Given the description of an element on the screen output the (x, y) to click on. 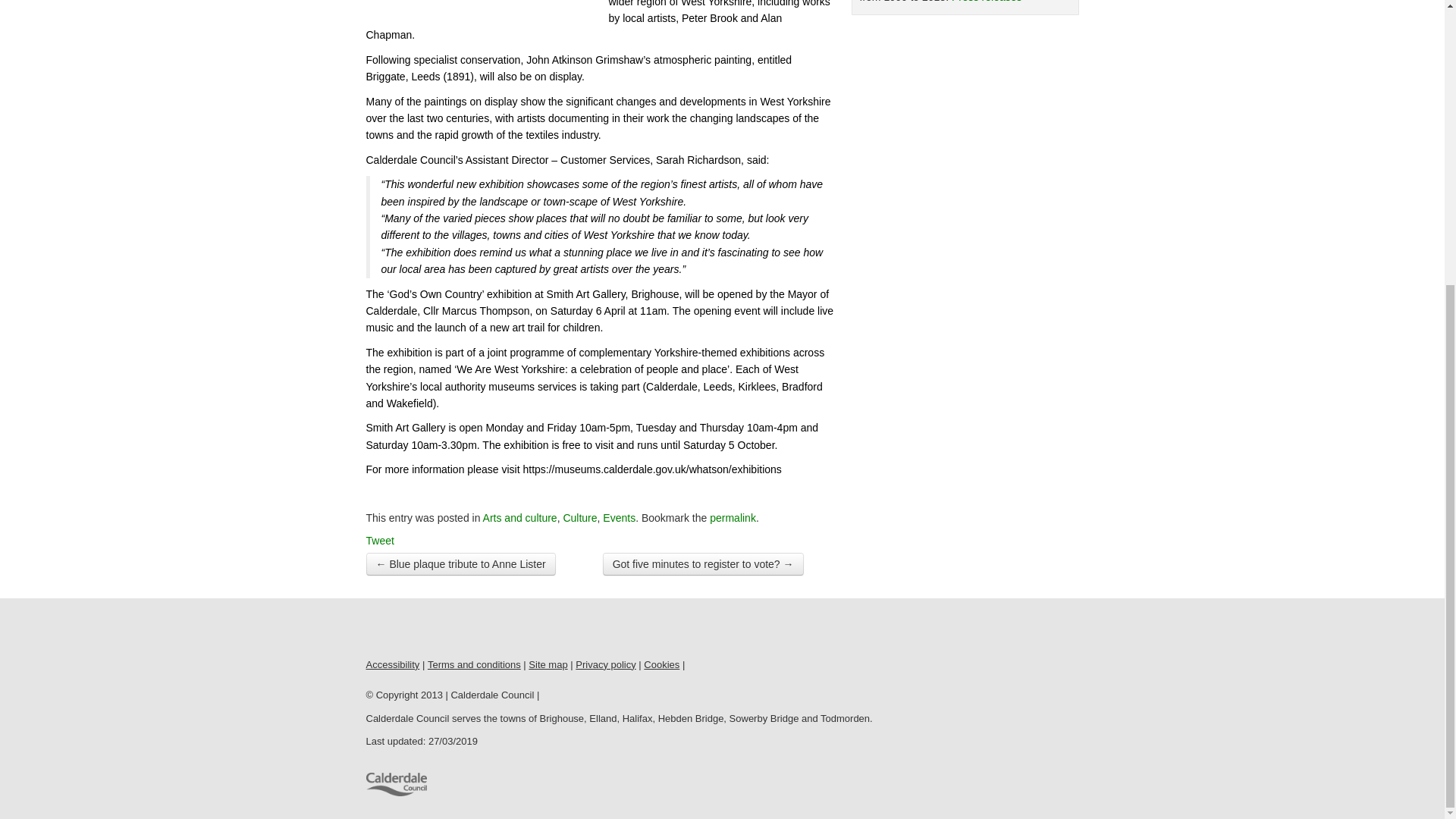
Twitter (409, 630)
Tweet (379, 540)
RSS (440, 630)
Culture (579, 517)
Accessibility (392, 664)
Arts and culture (520, 517)
Facebook (377, 630)
permalink (732, 517)
Press releases (987, 1)
Events (618, 517)
